Given the description of an element on the screen output the (x, y) to click on. 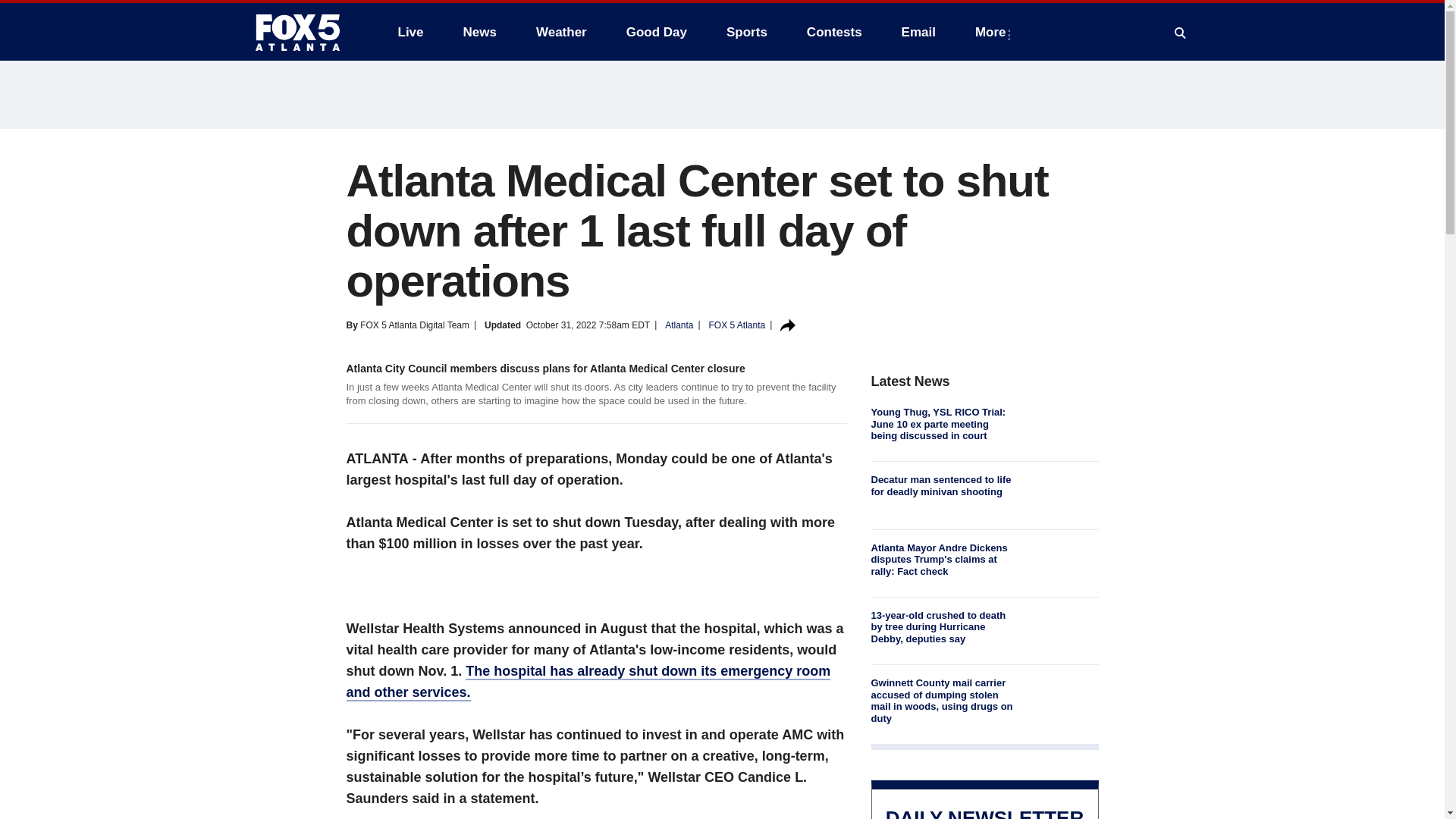
Good Day (656, 32)
Live (410, 32)
More (993, 32)
News (479, 32)
Email (918, 32)
Contests (834, 32)
Weather (561, 32)
Sports (746, 32)
